Given the description of an element on the screen output the (x, y) to click on. 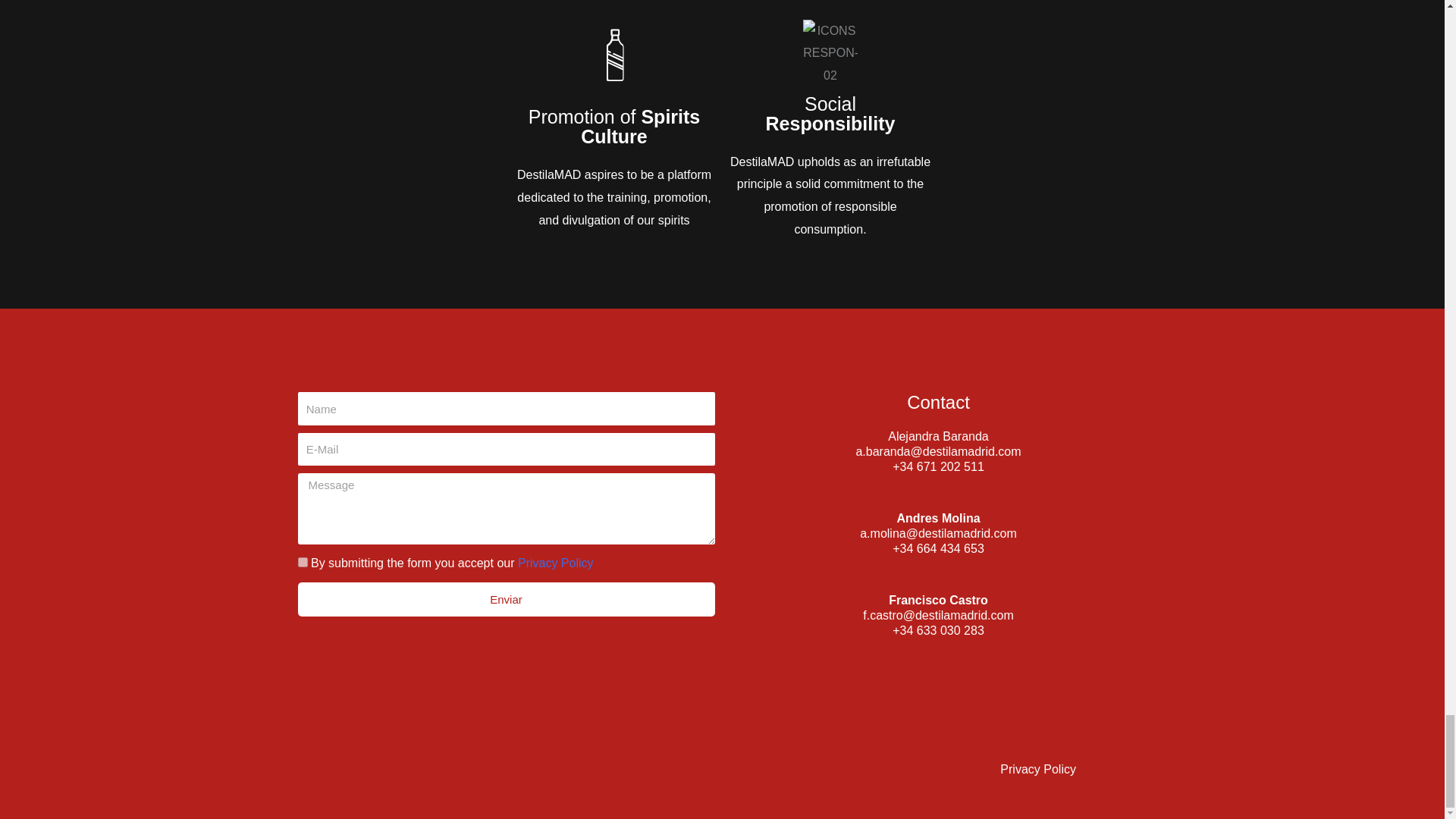
Privacy Policy (556, 562)
Privacy Policy (1037, 768)
on (302, 562)
Enviar (505, 599)
